Given the description of an element on the screen output the (x, y) to click on. 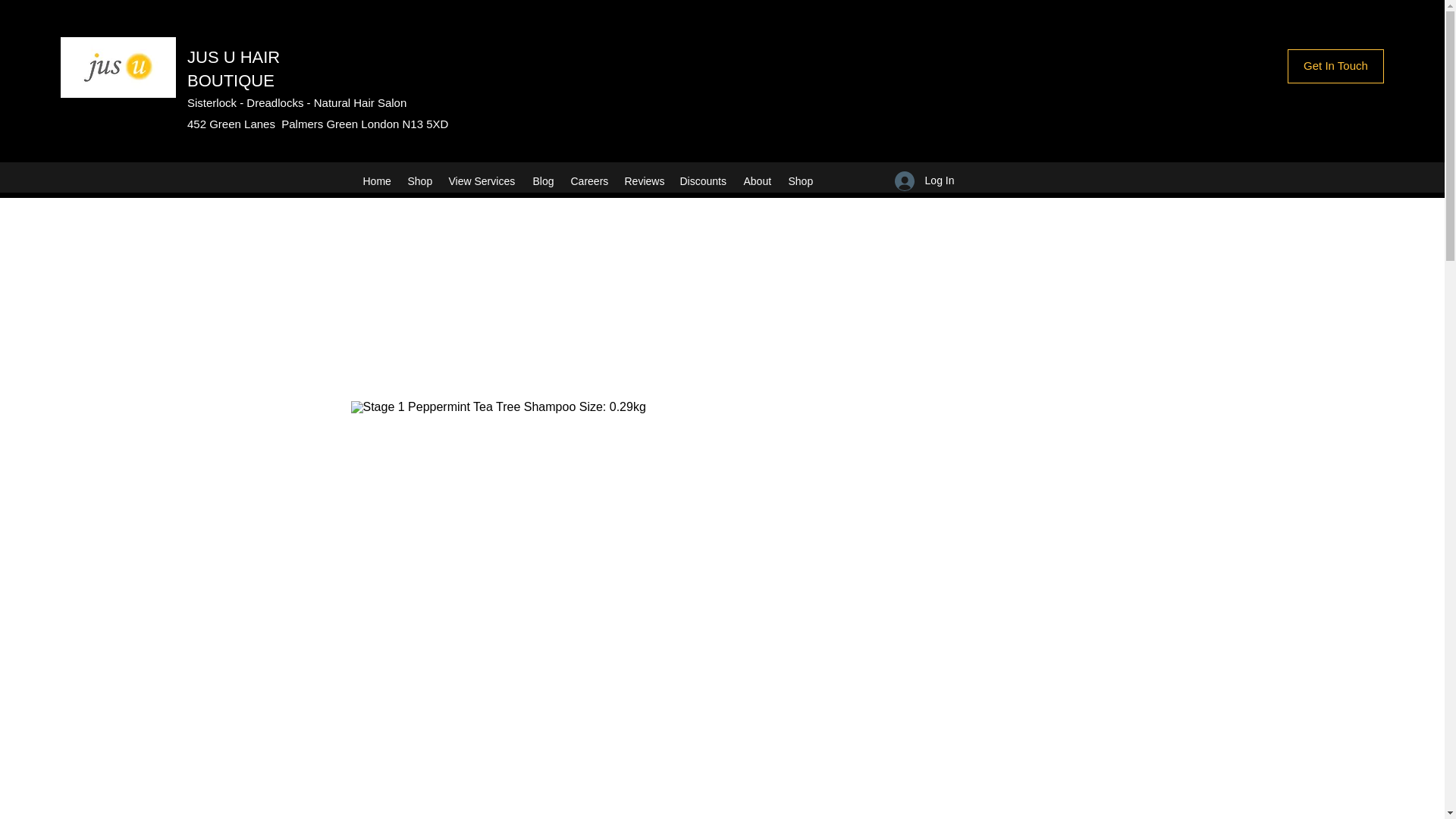
Get In Touch (1335, 66)
About (757, 180)
View Services (483, 180)
Home (376, 180)
Careers (588, 180)
Shop (801, 180)
Shop (420, 180)
Blog (543, 180)
Log In (924, 181)
Reviews (644, 180)
JUS U HAIR BOUTIQUE (233, 68)
Discounts (703, 180)
